Given the description of an element on the screen output the (x, y) to click on. 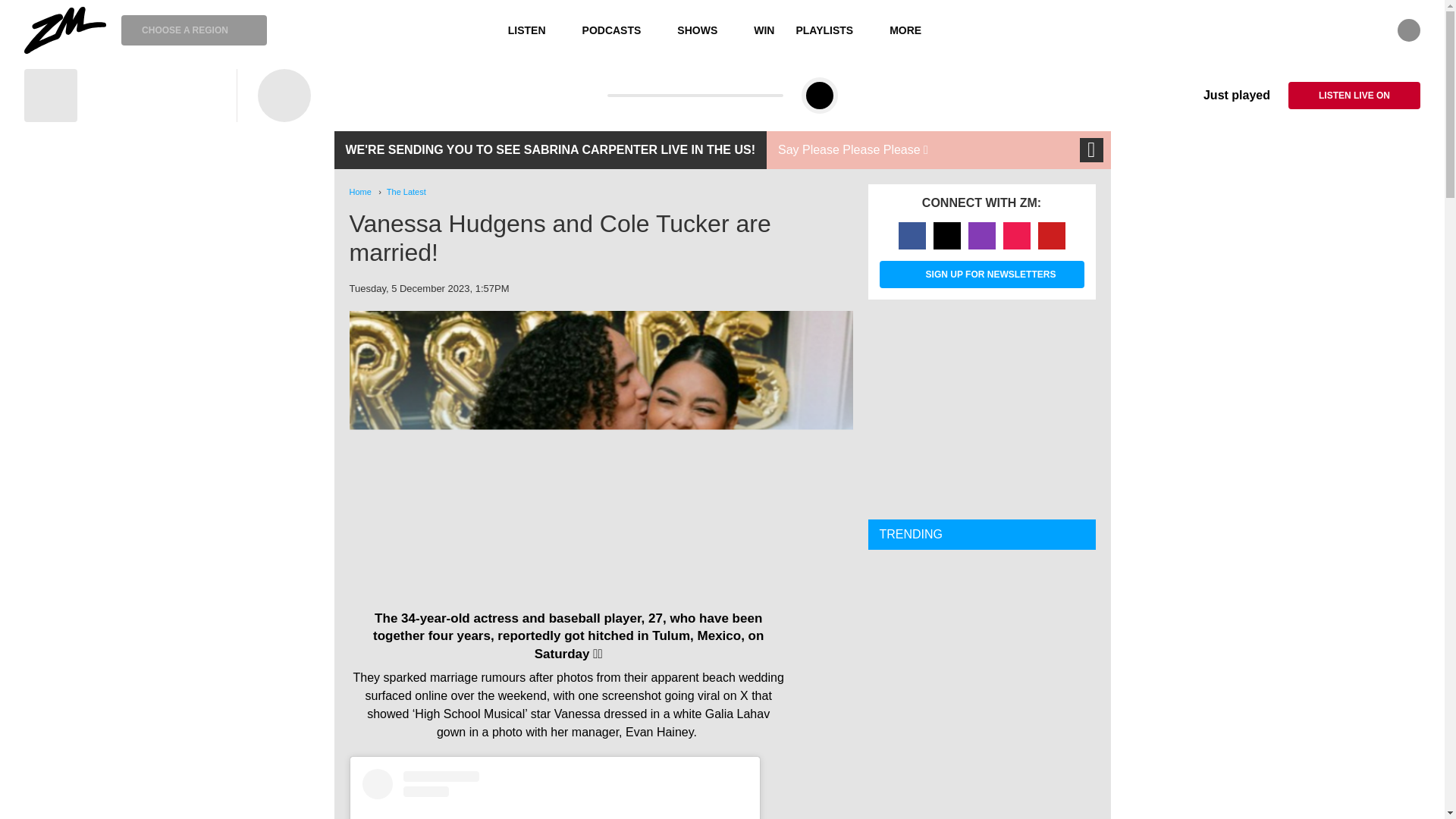
Youtube (1050, 235)
X (946, 235)
Just played (1225, 95)
PODCASTS (619, 30)
CHOOSE A REGION (193, 30)
ZM (65, 29)
Tiktok (1016, 235)
Instagram (981, 235)
LISTEN (534, 30)
Facebook (911, 235)
